Given the description of an element on the screen output the (x, y) to click on. 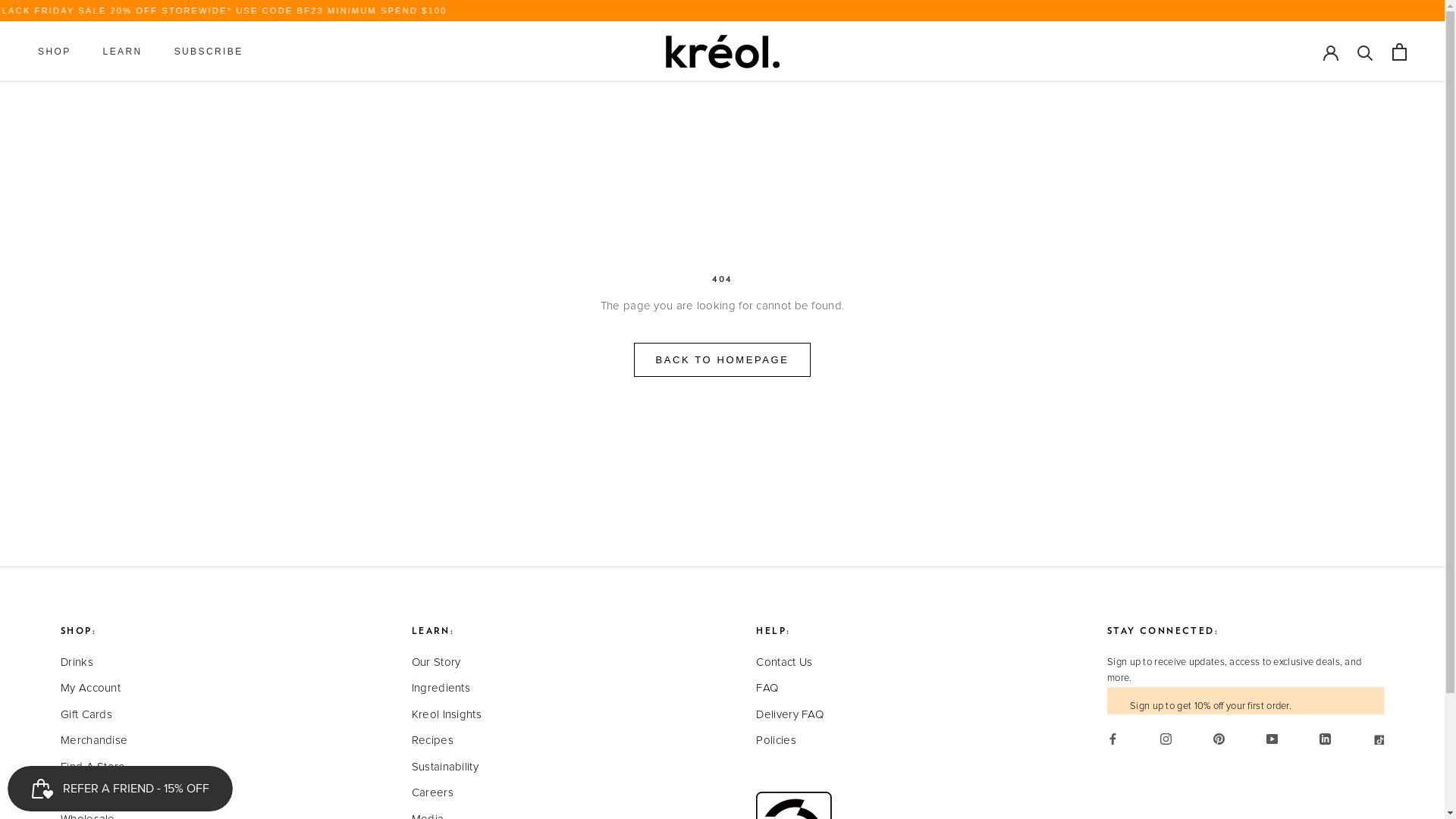
SUBSCRIBE
SUBSCRIBE Element type: text (208, 51)
FAQ Element type: text (793, 688)
Smile.io Rewards Program Launcher Element type: hover (119, 788)
Find A Store Element type: text (98, 767)
My Account Element type: text (98, 688)
Delivery FAQ Element type: text (793, 715)
Refer A Friend Element type: text (98, 793)
Gift Cards Element type: text (98, 715)
Drinks Element type: text (98, 662)
LEARN
LEARN Element type: text (122, 51)
Ingredients Element type: text (446, 688)
Kreol Insights Element type: text (446, 715)
Policies Element type: text (793, 740)
SHOP
SHOP Element type: text (54, 51)
Merchandise Element type: text (98, 740)
Sustainability Element type: text (446, 767)
STAY CONNECTED: Element type: text (1162, 630)
BACK TO HOMEPAGE Element type: text (722, 359)
Contact Us Element type: text (793, 662)
Careers Element type: text (446, 793)
Recipes Element type: text (446, 740)
Our Story Element type: text (446, 662)
